Given the description of an element on the screen output the (x, y) to click on. 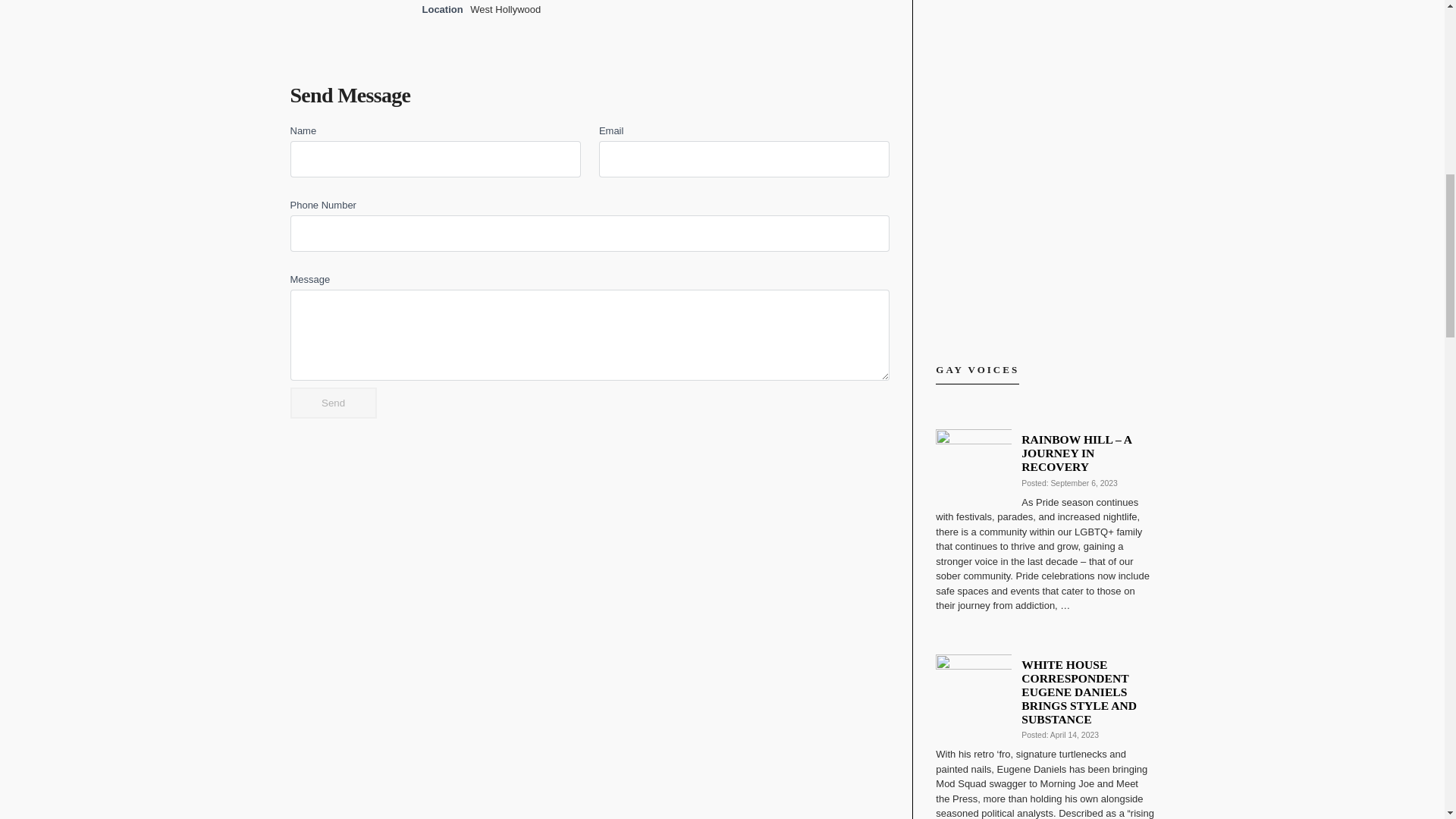
Send (332, 402)
Send (332, 402)
